Given the description of an element on the screen output the (x, y) to click on. 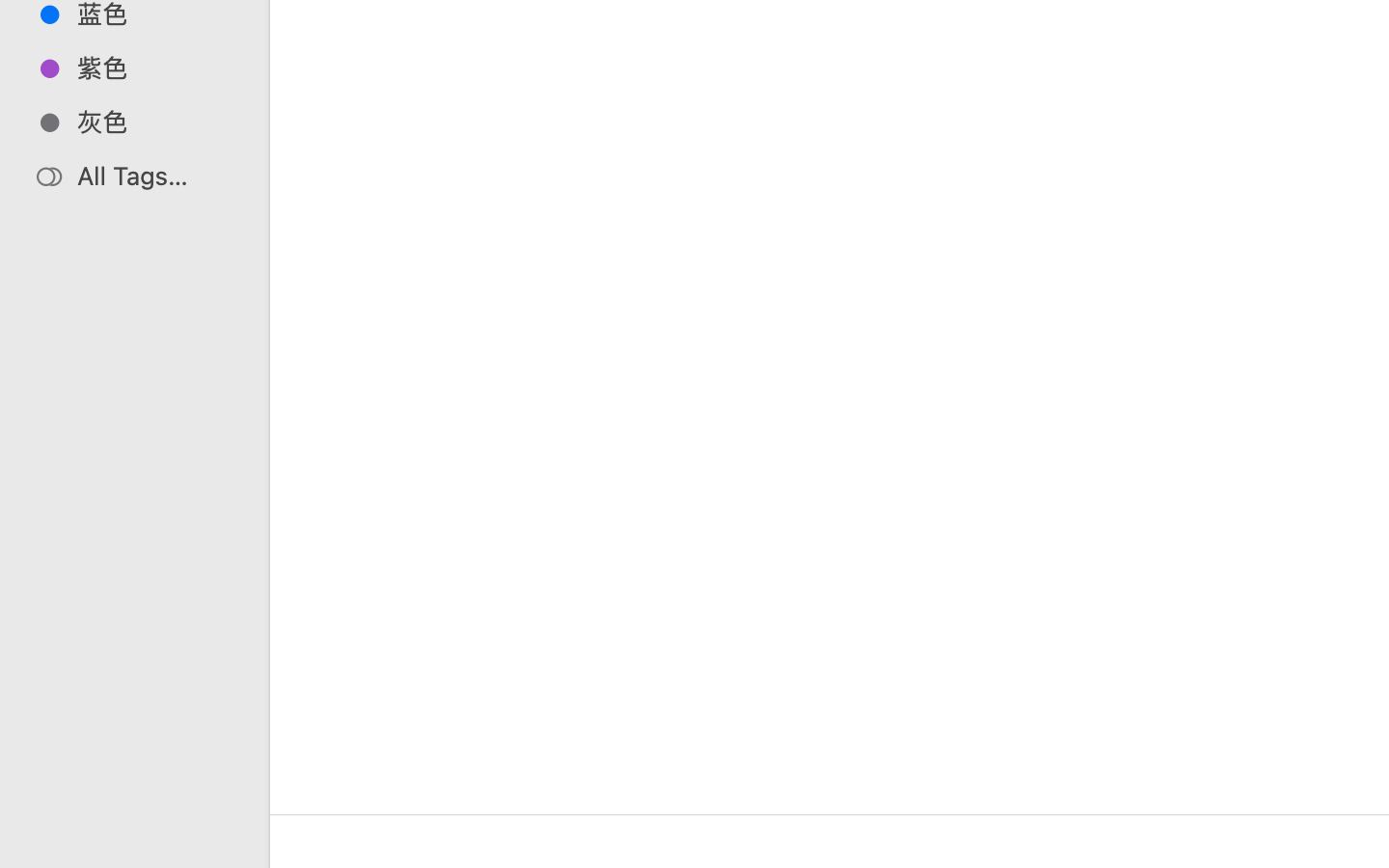
紫色 Element type: AXStaticText (155, 67)
